Given the description of an element on the screen output the (x, y) to click on. 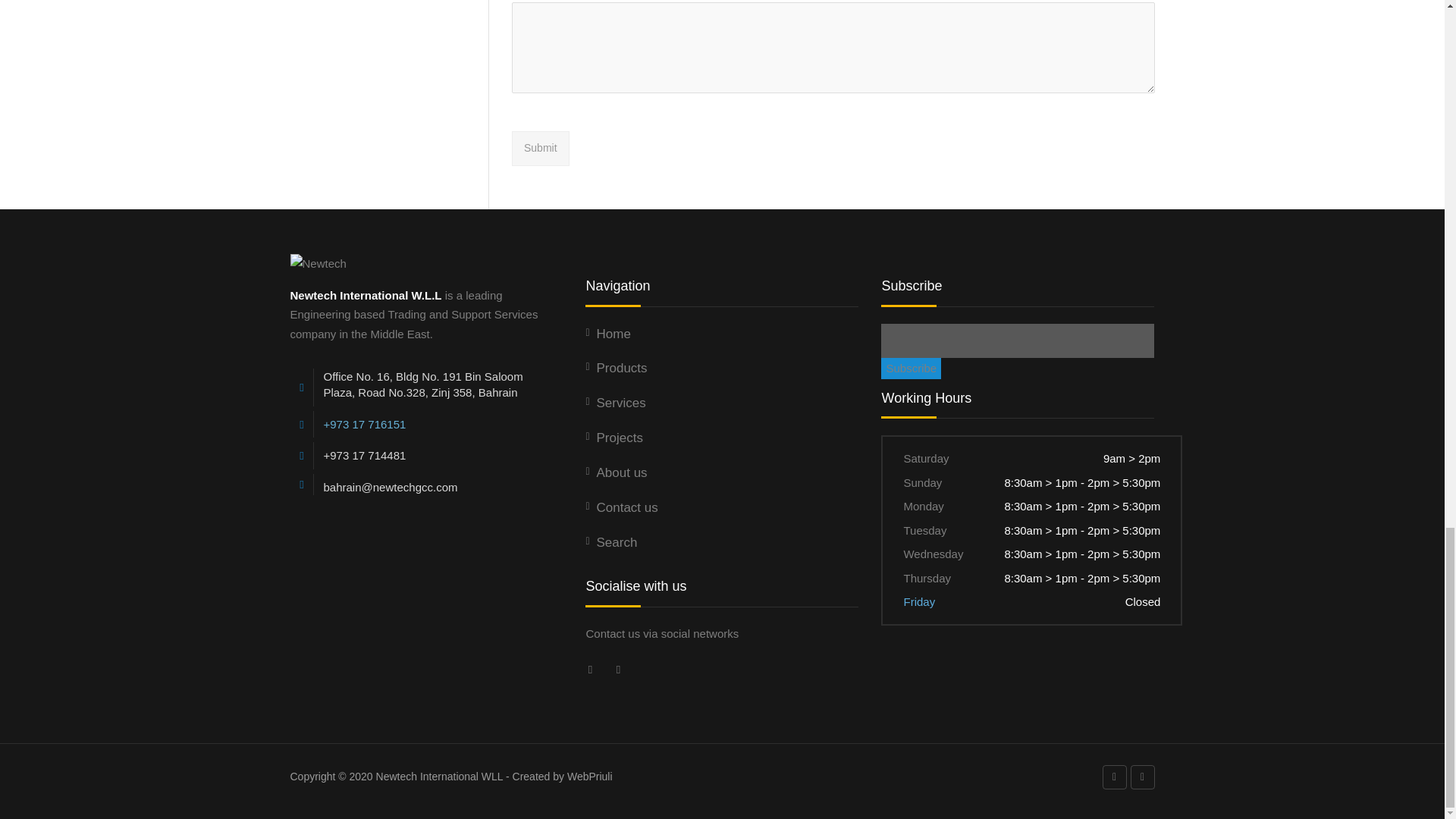
Subscribe (910, 368)
